Given the description of an element on the screen output the (x, y) to click on. 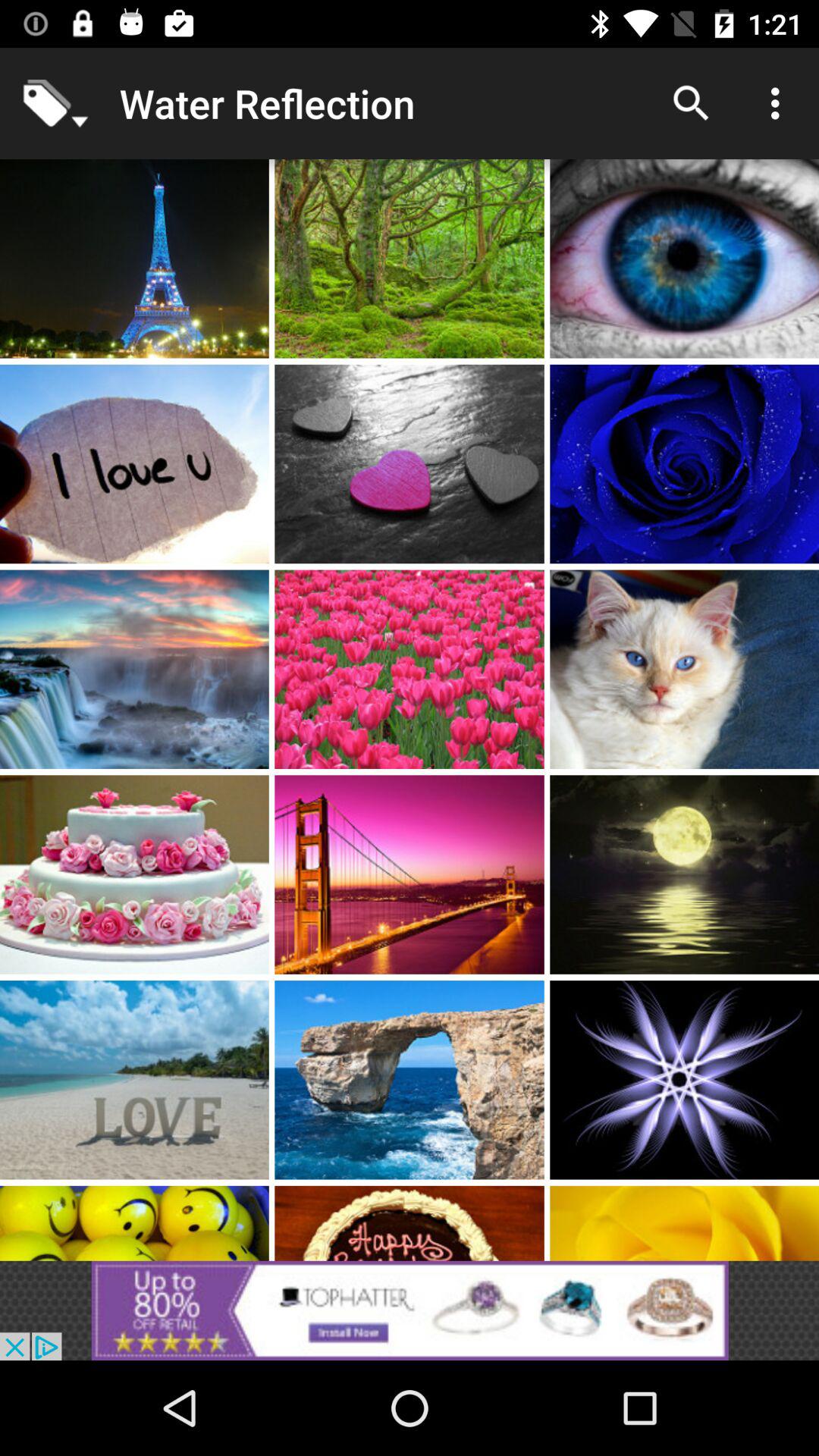
display the advertisement bottom of the top (409, 1310)
